Given the description of an element on the screen output the (x, y) to click on. 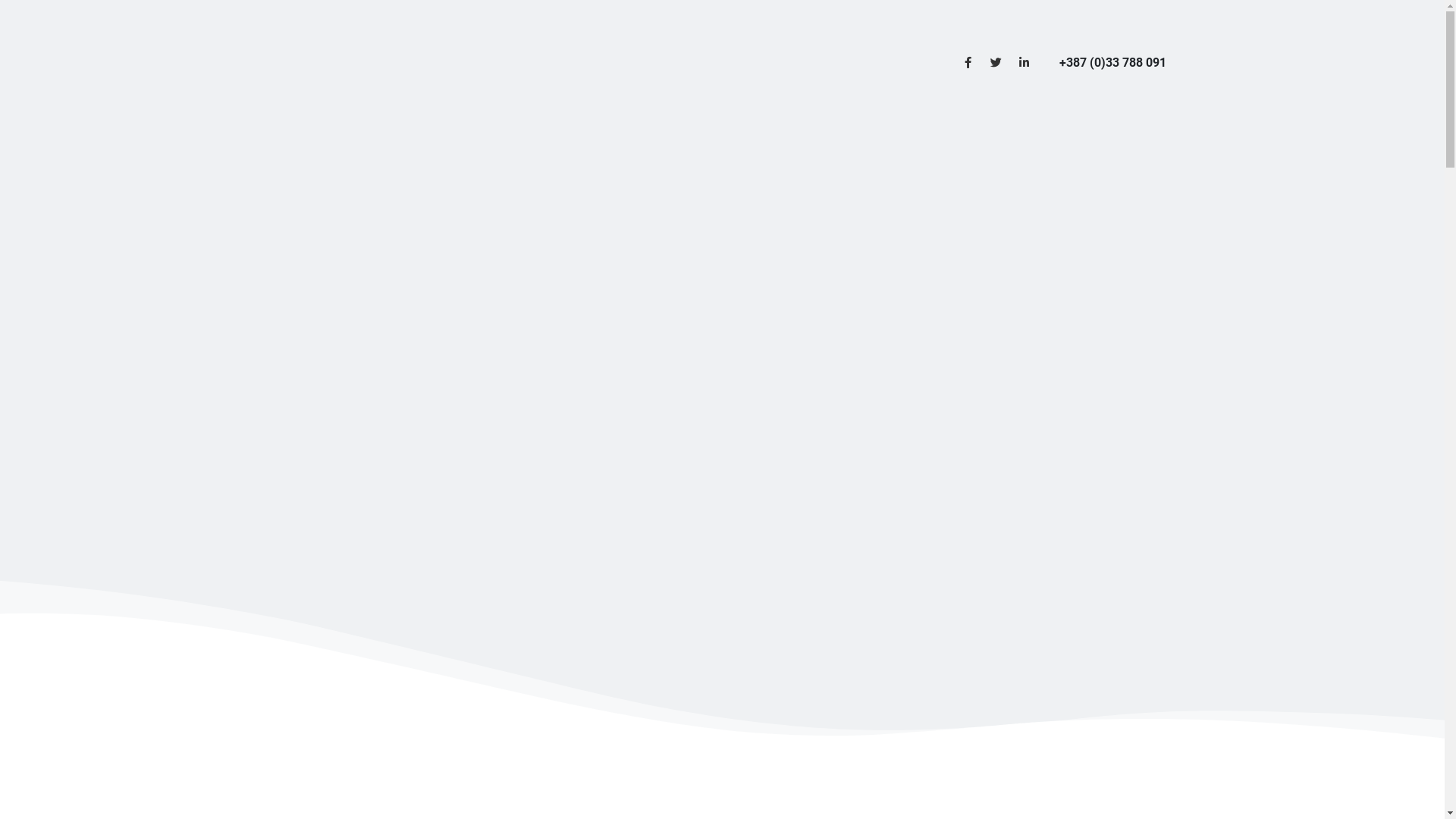
LinkedIn Element type: hover (1023, 61)
Facebook Element type: hover (968, 61)
Twitter Element type: hover (996, 61)
+387 (0)33 788 091 Element type: text (1111, 62)
